Given the description of an element on the screen output the (x, y) to click on. 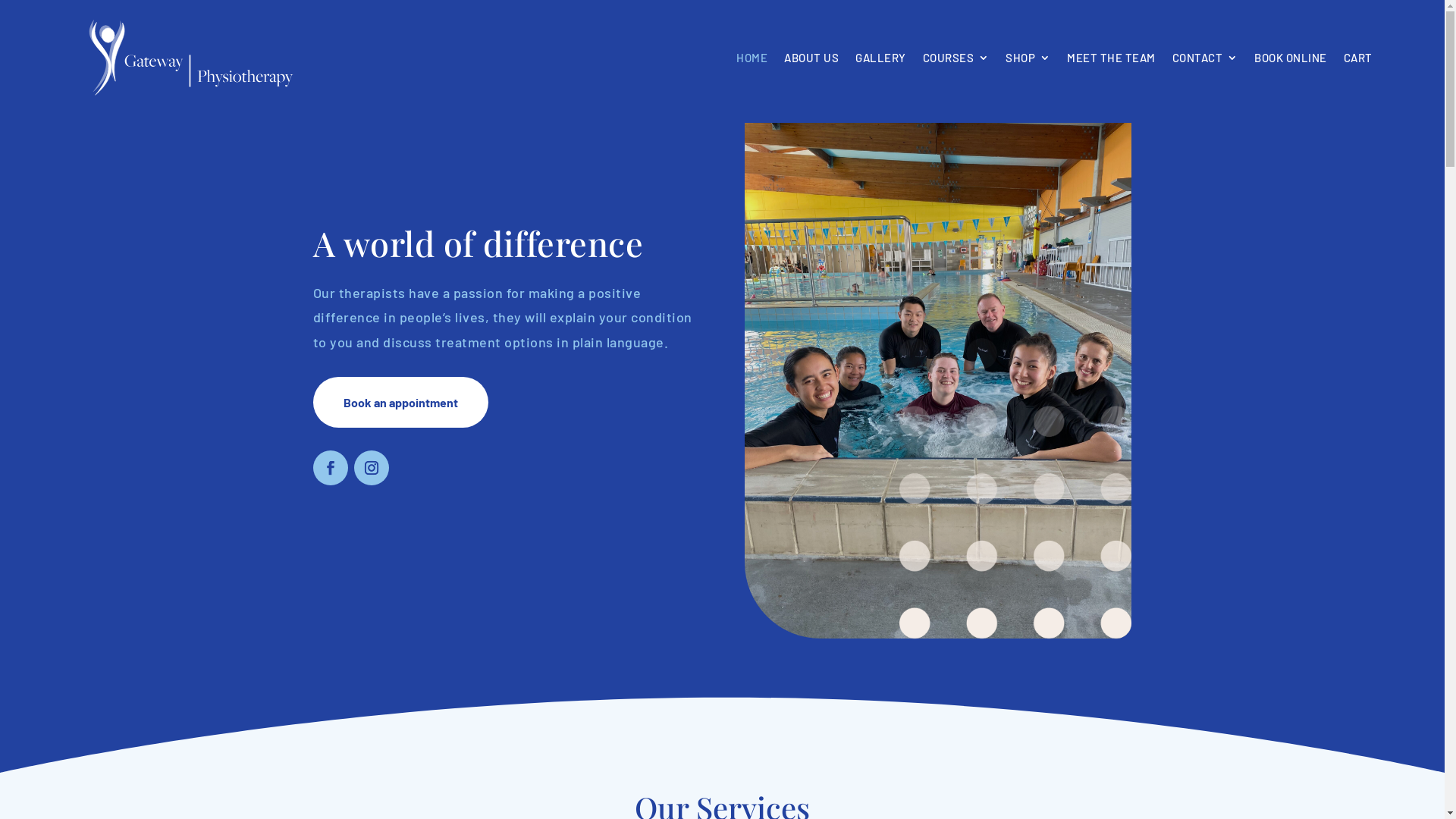
Book an appointment Element type: text (399, 401)
ABOUT US Element type: text (811, 57)
HOME Element type: text (751, 57)
Follow on Instagram Element type: hover (370, 467)
health-clinic-4 Element type: hover (1015, 488)
GALLERY Element type: text (880, 57)
MEET THE TEAM Element type: text (1110, 57)
BOOK ONLINE Element type: text (1290, 57)
CONTACT Element type: text (1205, 57)
SHOP Element type: text (1027, 57)
IMG_3437 Element type: hover (937, 380)
Follow on Facebook Element type: hover (329, 467)
COURSES Element type: text (955, 57)
CART Element type: text (1357, 57)
